Given the description of an element on the screen output the (x, y) to click on. 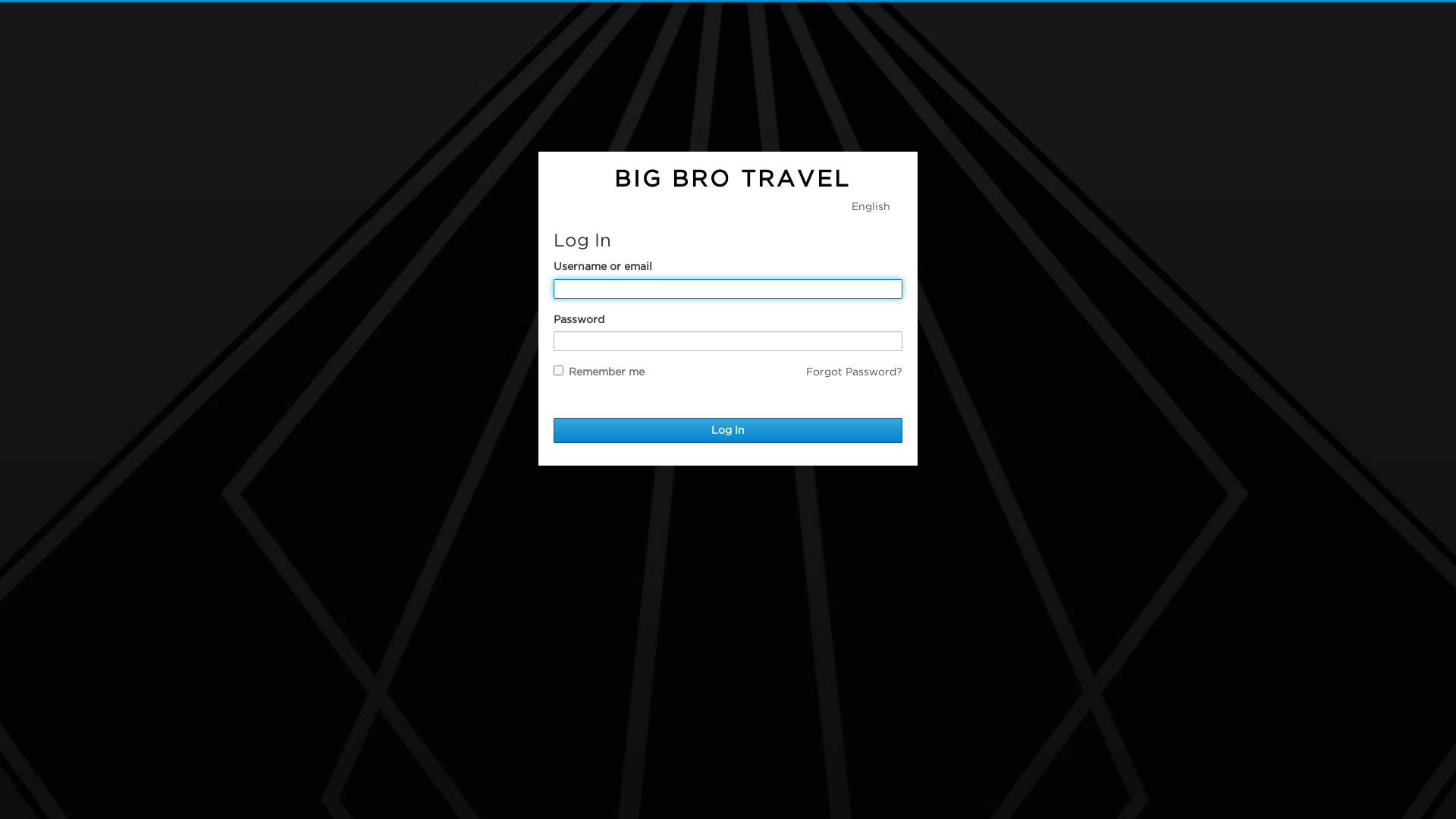
English Element type: text (727, 205)
Log In Element type: text (727, 429)
Forgot Password? Element type: text (854, 370)
